Given the description of an element on the screen output the (x, y) to click on. 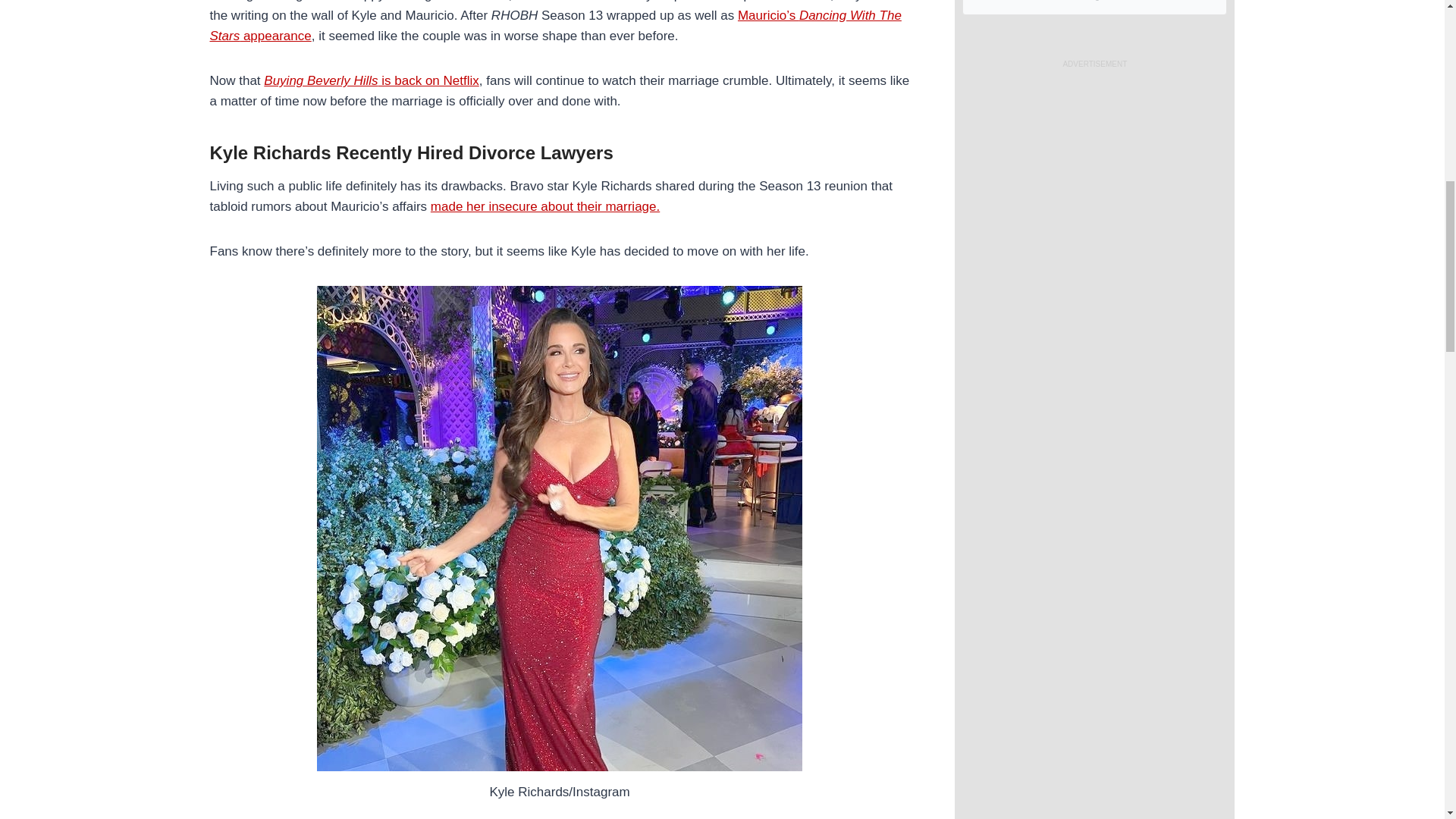
Buying Beverly Hills is back on Netflix (371, 80)
made her insecure about their marriage. (544, 206)
